Given the description of an element on the screen output the (x, y) to click on. 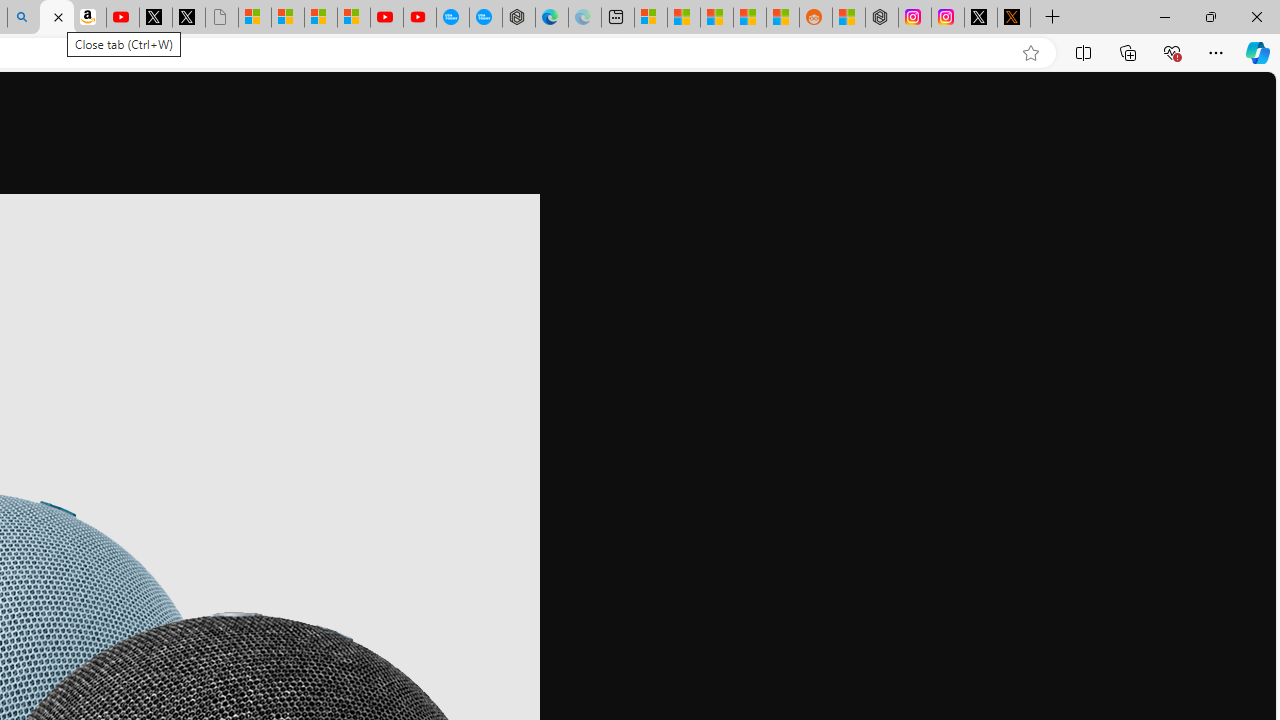
Untitled (222, 17)
help.x.com | 524: A timeout occurred (1014, 17)
Microsoft account | Microsoft Account Privacy Settings (650, 17)
Shanghai, China weather forecast | Microsoft Weather (684, 17)
Gloom - YouTube (387, 17)
Log in to X / X (981, 17)
